Given the description of an element on the screen output the (x, y) to click on. 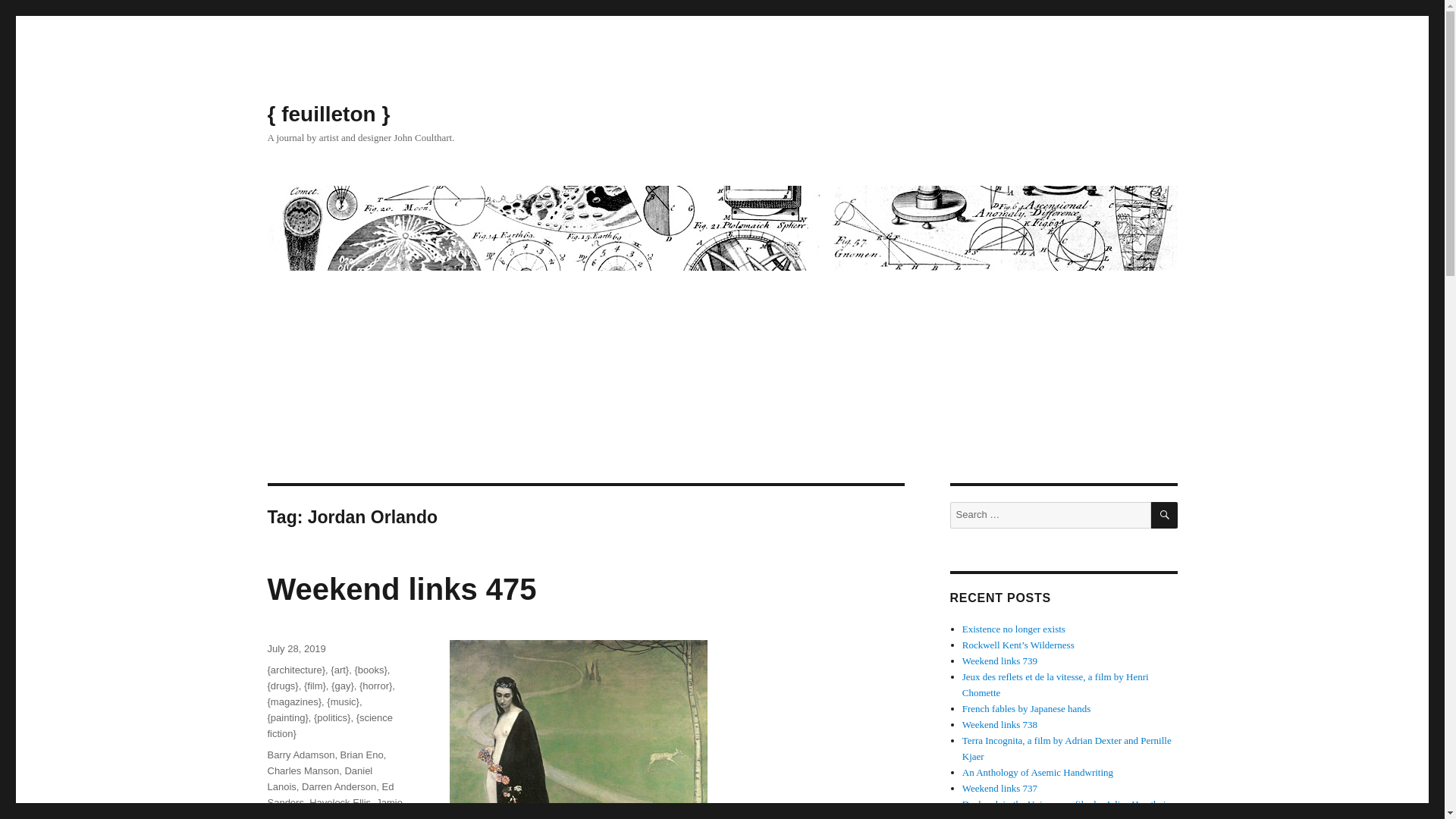
Brian Eno (362, 754)
Charles Manson (302, 770)
Barry Adamson (300, 754)
July 28, 2019 (295, 648)
Weekend links 475 (400, 589)
